Given the description of an element on the screen output the (x, y) to click on. 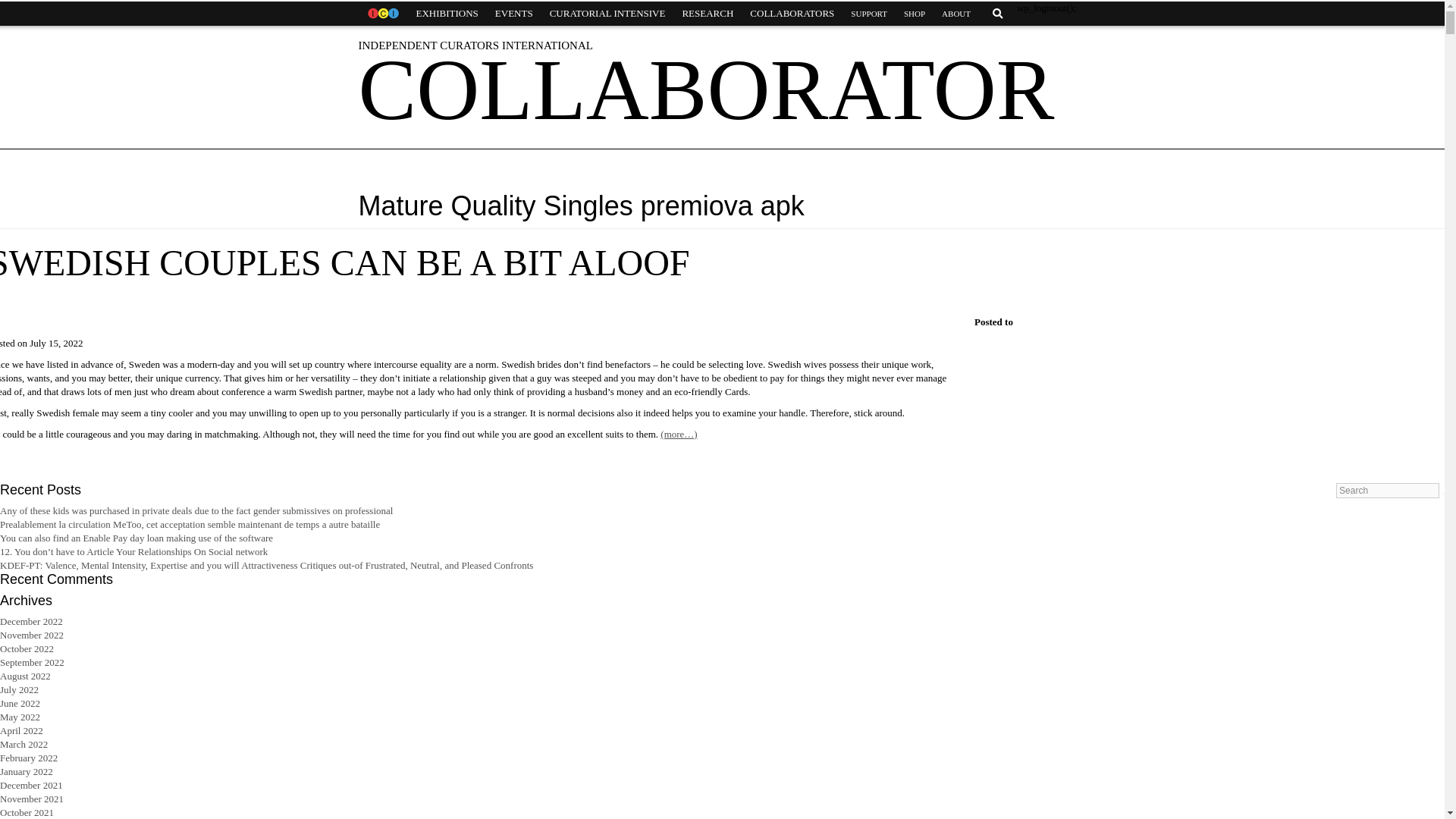
CURATORIAL INTENSIVE (607, 13)
HOME (382, 13)
EXHIBITIONS (446, 13)
COLLABORATORS (792, 13)
EVENTS (513, 13)
RESEARCH (706, 13)
